Given the description of an element on the screen output the (x, y) to click on. 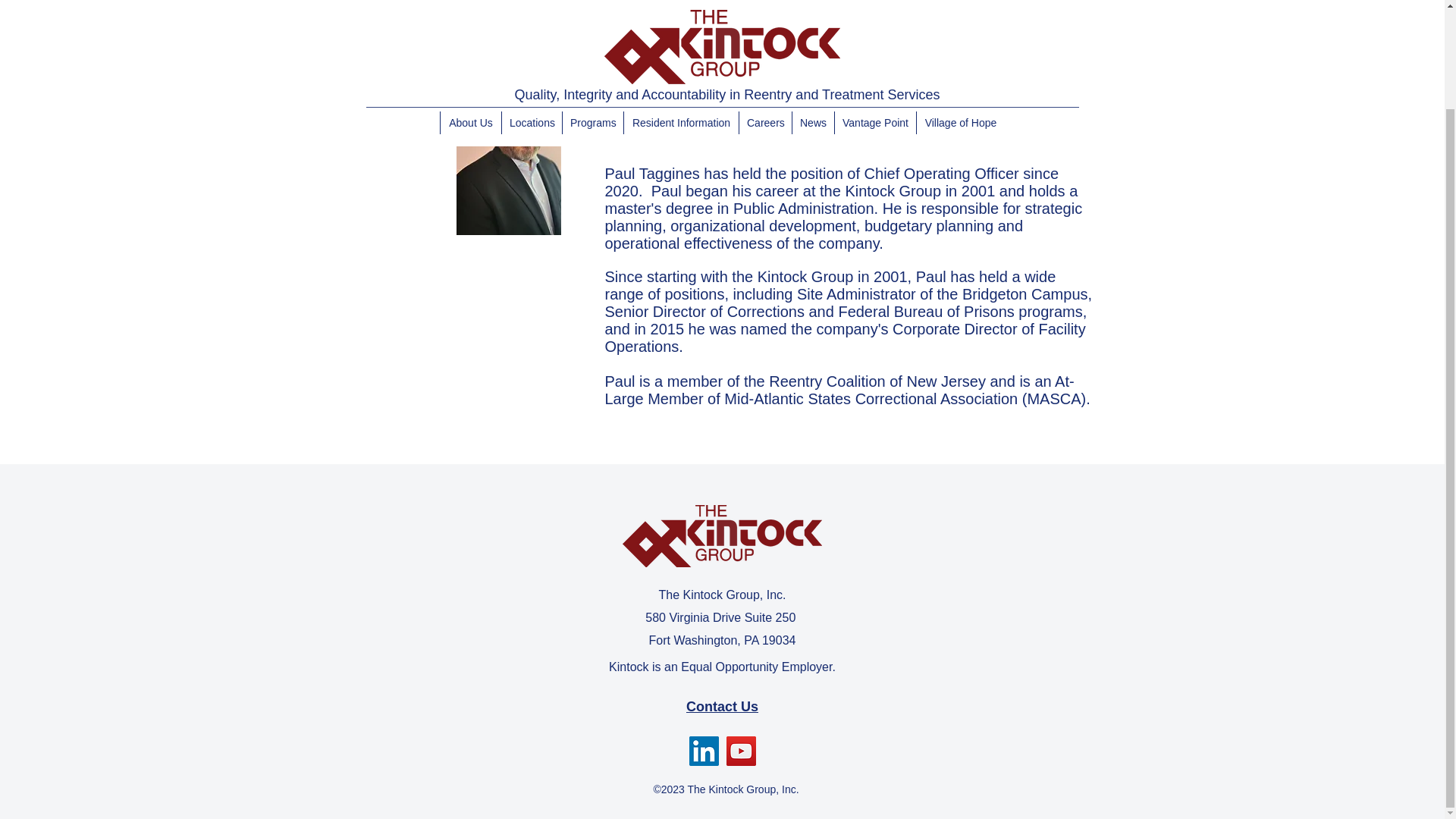
Village of Hope (959, 9)
Contact Us (721, 706)
Careers (765, 9)
News (813, 9)
Resident Information (680, 9)
Programs (592, 9)
Vantage Point (874, 9)
About Us (469, 9)
Locations (531, 9)
